Given the description of an element on the screen output the (x, y) to click on. 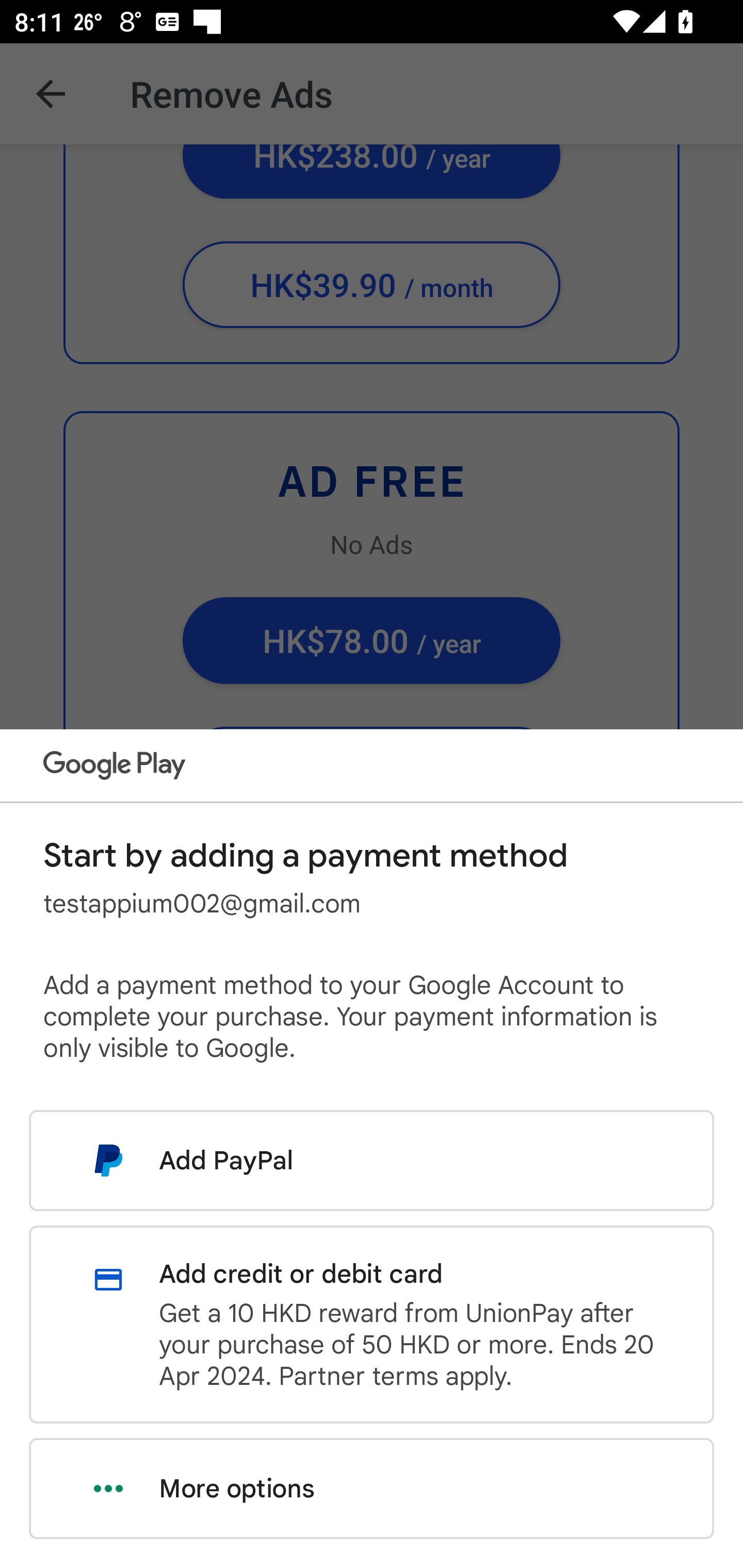
Add PayPal (371, 1160)
More options (371, 1488)
